Given the description of an element on the screen output the (x, y) to click on. 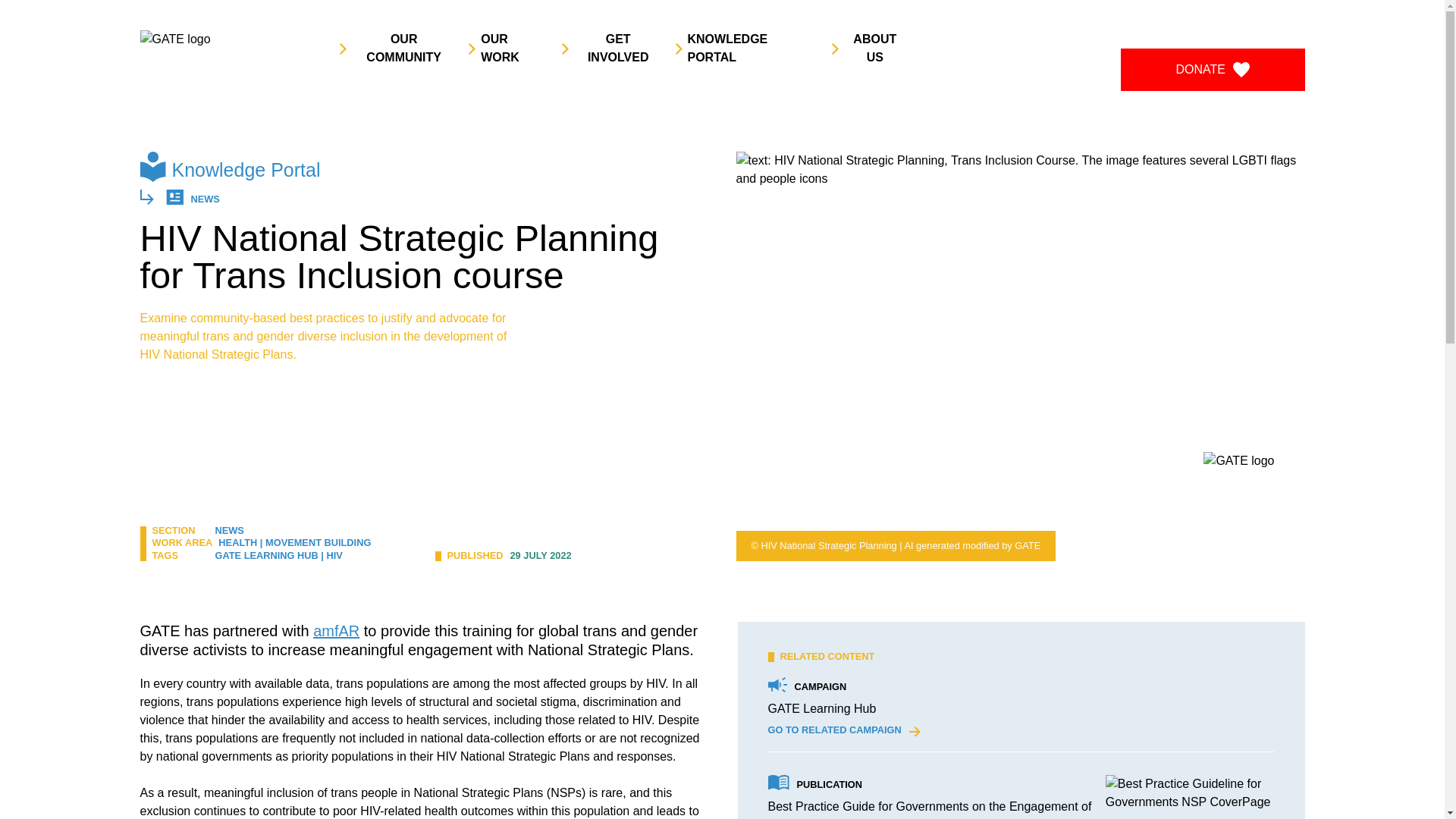
HEALTH (237, 542)
ABOUT US (869, 48)
NEWS (229, 530)
Knowledge Portal (245, 169)
GET INVOLVED (611, 48)
DONATE (1211, 69)
OUR WORK (507, 48)
OUR COMMUNITY (397, 48)
DONATE (1212, 69)
KNOWLEDGE PORTAL (746, 48)
